Given the description of an element on the screen output the (x, y) to click on. 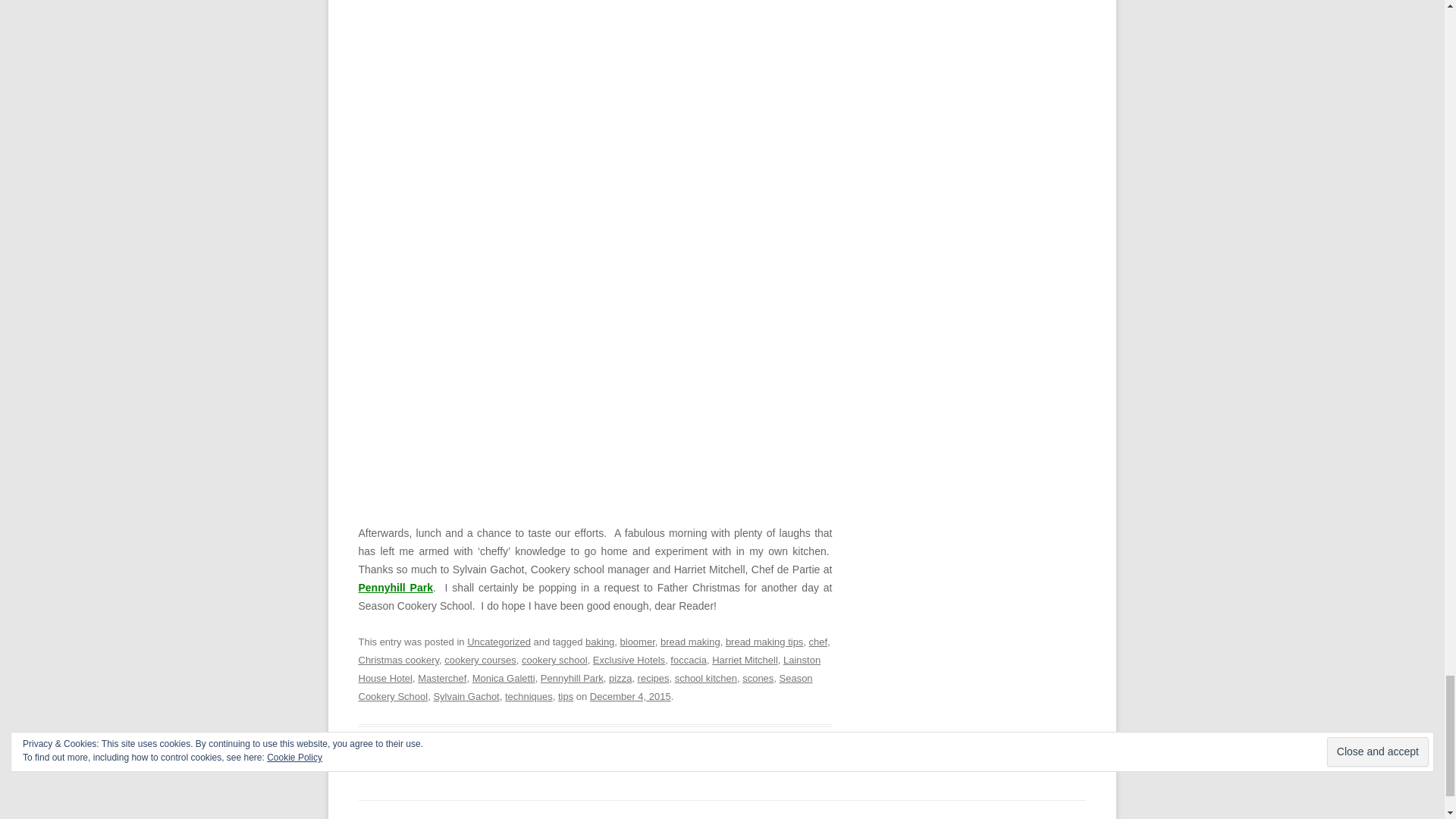
bread making (690, 641)
cookery courses (480, 659)
bread making tips (764, 641)
cookery school (554, 659)
chef (818, 641)
11:32 am (630, 696)
Uncategorized (499, 641)
bloomer (637, 641)
Exclusive Hotels (628, 659)
Pennyhill Park (395, 587)
baking (599, 641)
Christmas cookery (398, 659)
